Given the description of an element on the screen output the (x, y) to click on. 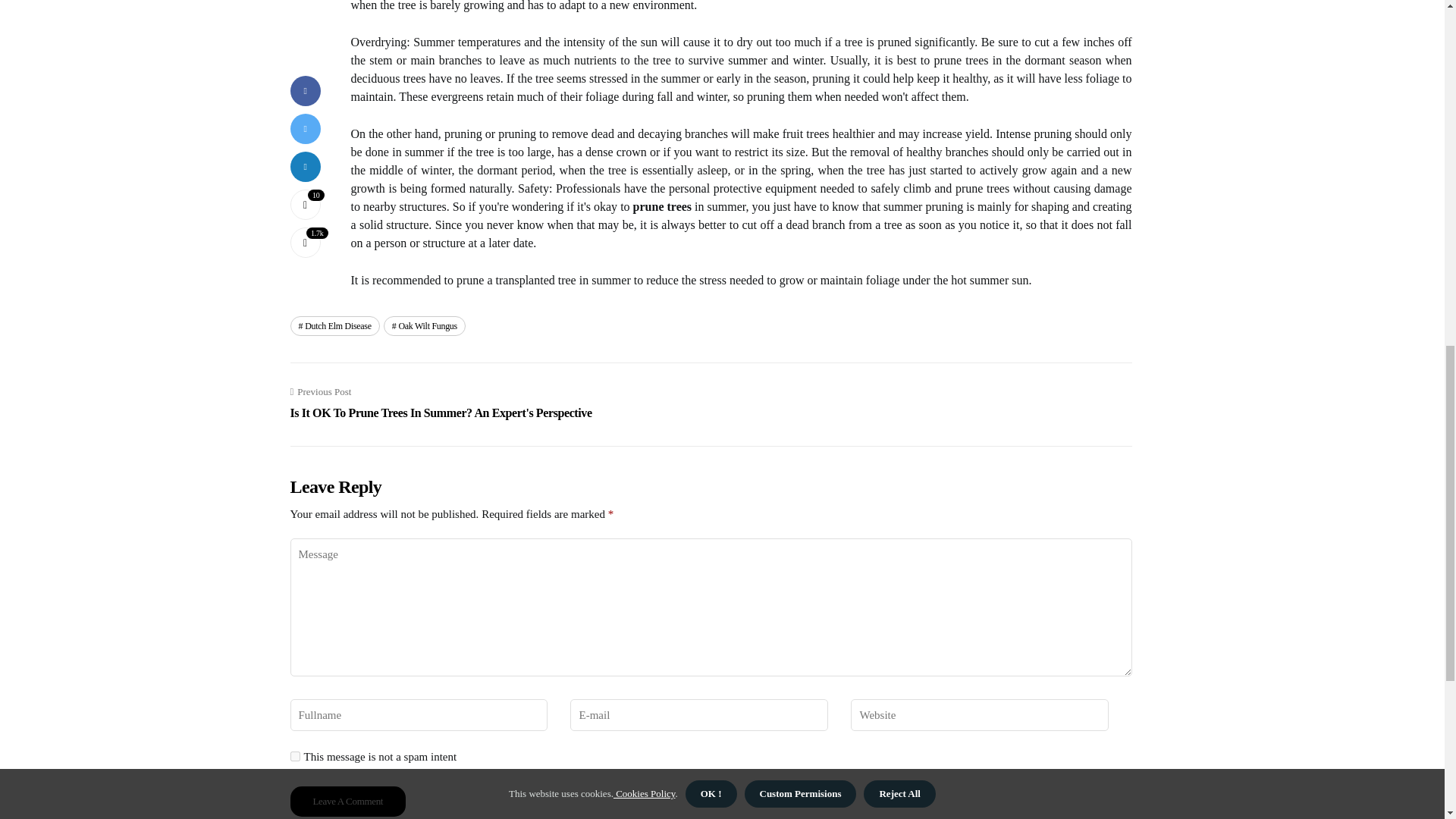
Dutch Elm Disease (333, 325)
Leave a Comment (347, 801)
Oak Wilt Fungus (424, 325)
Leave a Comment (347, 801)
yes (294, 756)
